Given the description of an element on the screen output the (x, y) to click on. 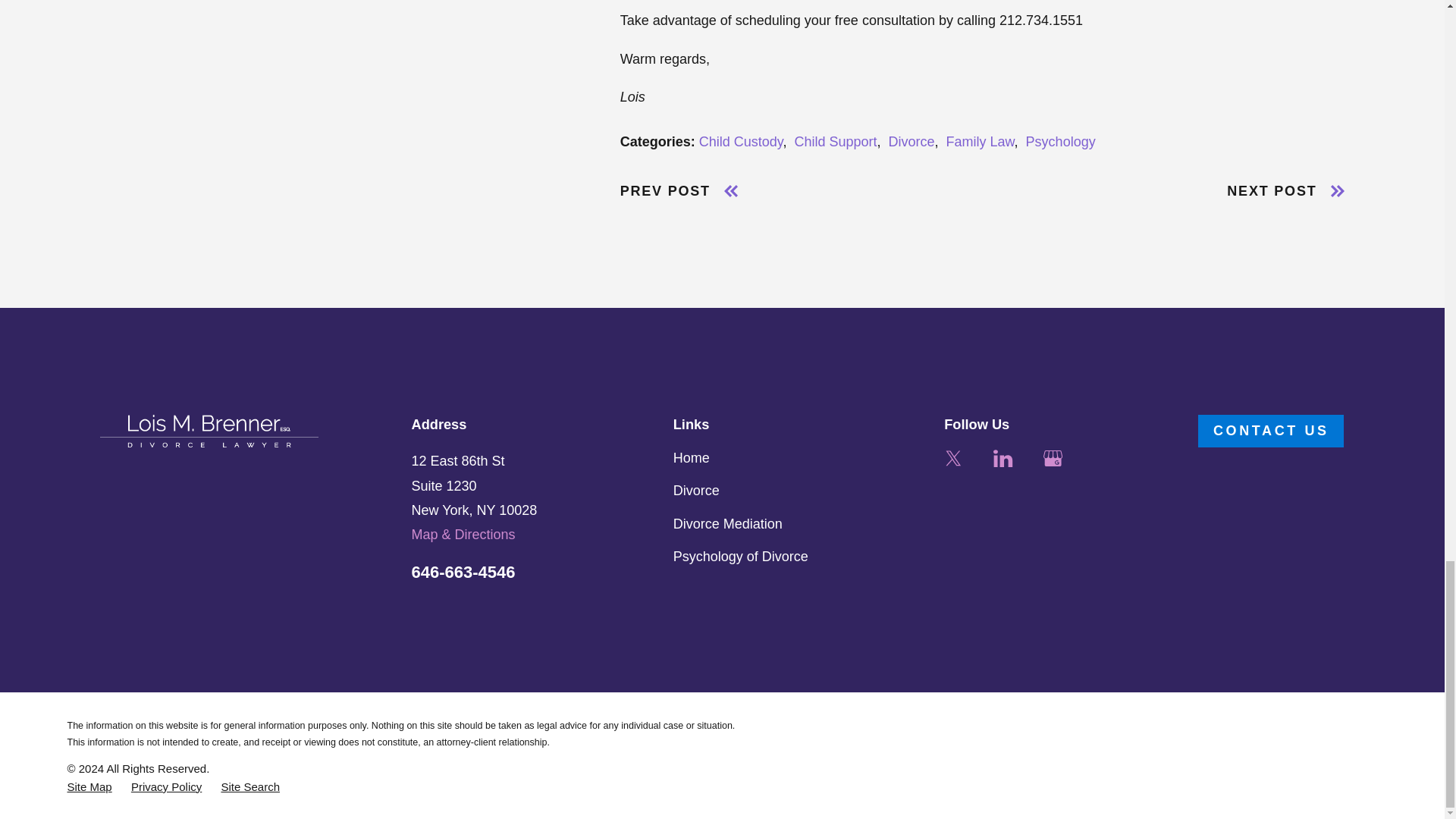
LinkedIn (1001, 457)
Google Business Profile (1052, 457)
Home (209, 430)
Twitter (952, 457)
